Given the description of an element on the screen output the (x, y) to click on. 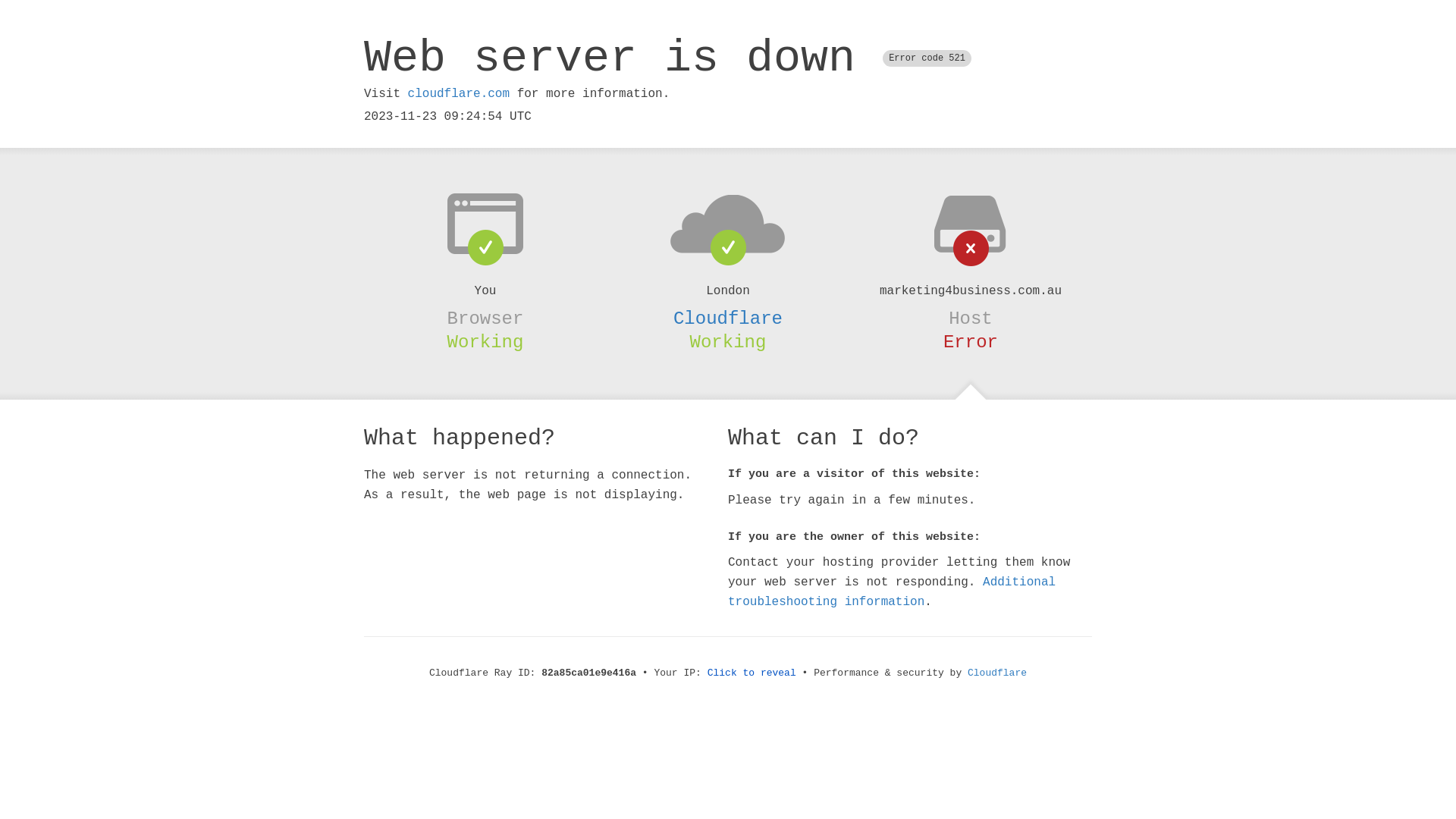
Click to reveal Element type: text (751, 672)
Cloudflare Element type: text (996, 672)
Cloudflare Element type: text (727, 318)
Additional troubleshooting information Element type: text (891, 591)
cloudflare.com Element type: text (458, 93)
